Given the description of an element on the screen output the (x, y) to click on. 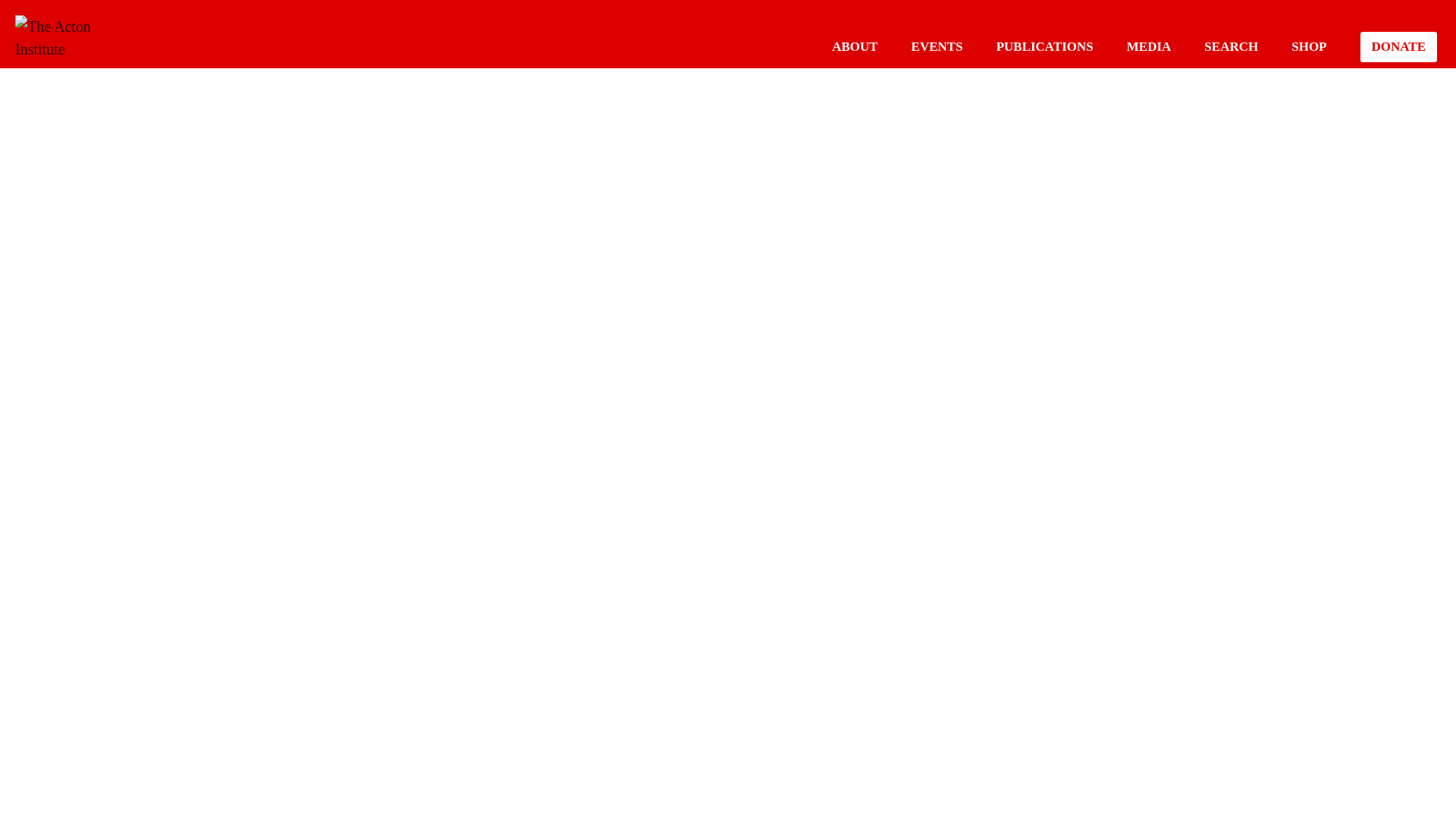
ABOUT (854, 46)
DONATE (1398, 46)
EVENTS (936, 46)
SEARCH (1230, 46)
MEDIA (1149, 46)
SHOP (1308, 46)
The Acton Institute (60, 37)
PUBLICATIONS (1044, 46)
